Given the description of an element on the screen output the (x, y) to click on. 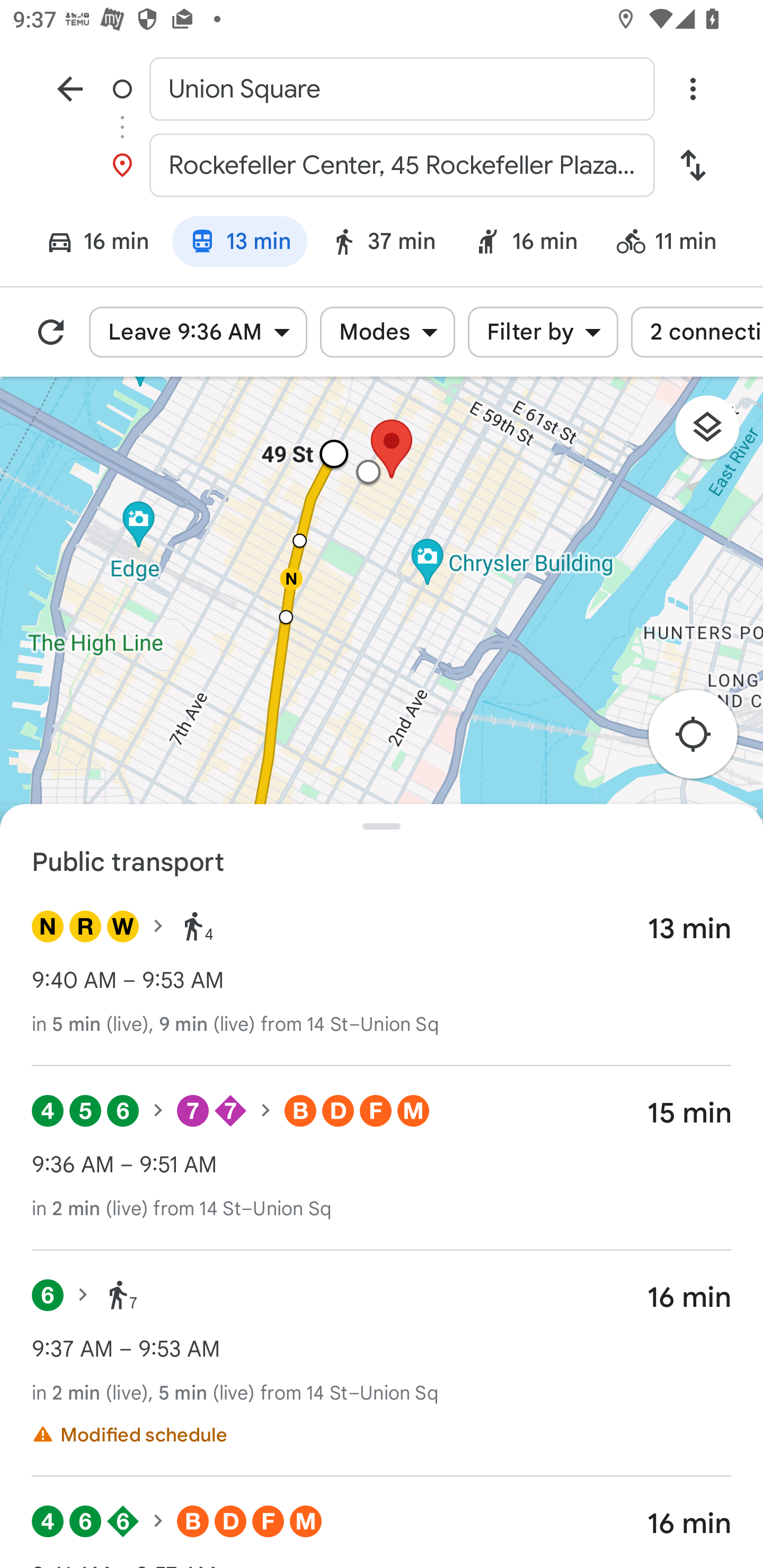
Navigate up (70, 88)
Union Square Start location, Union Square (381, 88)
Overflow menu (692, 88)
Swap start and destination (692, 165)
Driving mode: 16 min 16 min (89, 244)
Walking mode: 37 min 37 min (382, 244)
Ride service: 16 min 16 min (526, 244)
Bicycling mode: 11 min 11 min (674, 244)
Refresh (50, 332)
Leave 9:36 AM Leave 9:36 AM Leave 9:36 AM (198, 332)
Modes Modes Modes (387, 332)
Filter by Filter by Filter by (542, 332)
Layers (716, 433)
Re-center map to your location (702, 739)
